Given the description of an element on the screen output the (x, y) to click on. 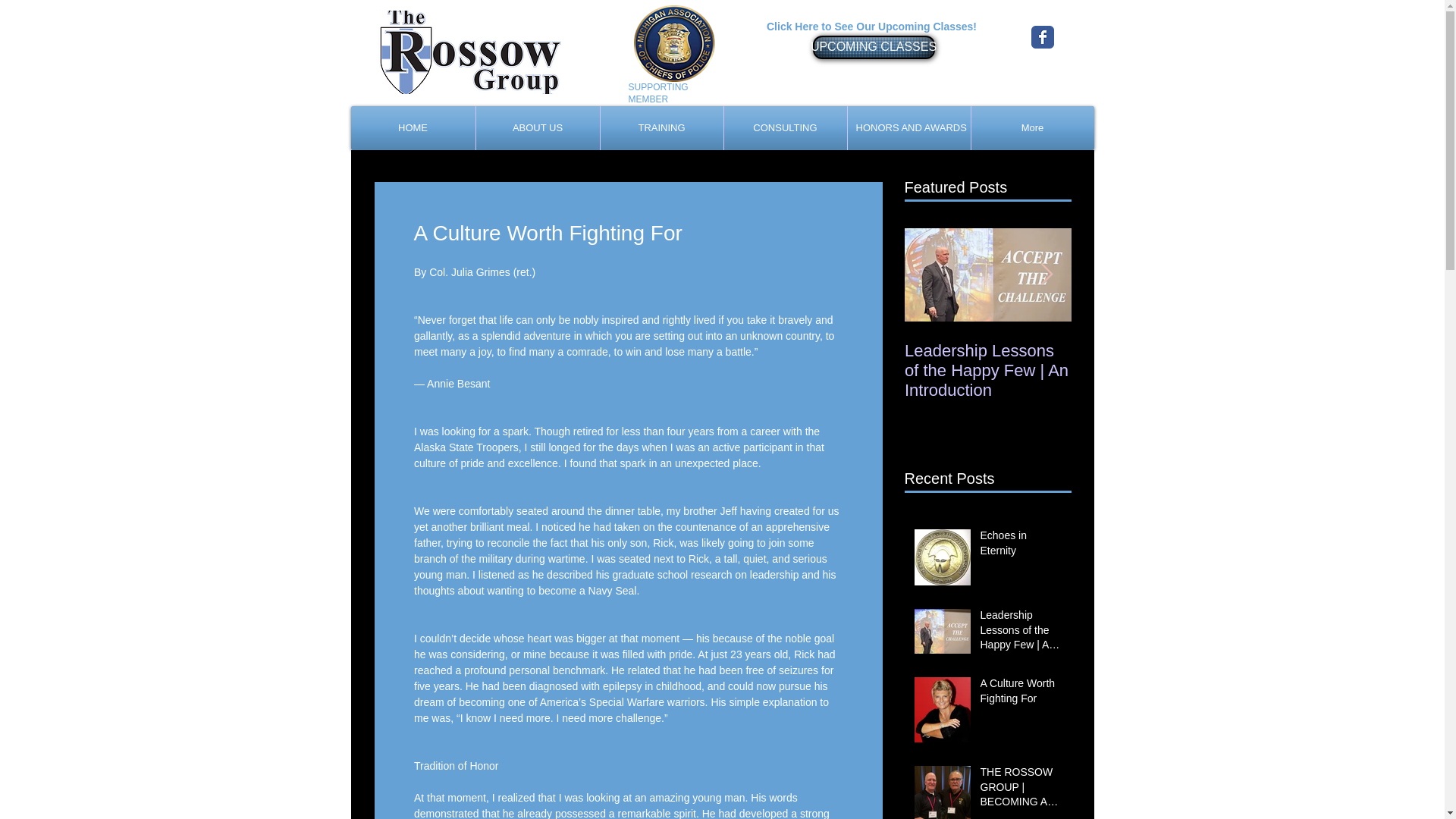
A Culture Worth Fighting For (1153, 360)
HONORS AND AWARDS (908, 127)
Echoes in Eternity (1020, 546)
CONSULTING (785, 127)
A Culture Worth Fighting For (1020, 693)
TRAINING (660, 127)
TRG.png (469, 52)
ABOUT US (537, 127)
UPCOMING CLASSES (873, 47)
HOME (413, 127)
